Given the description of an element on the screen output the (x, y) to click on. 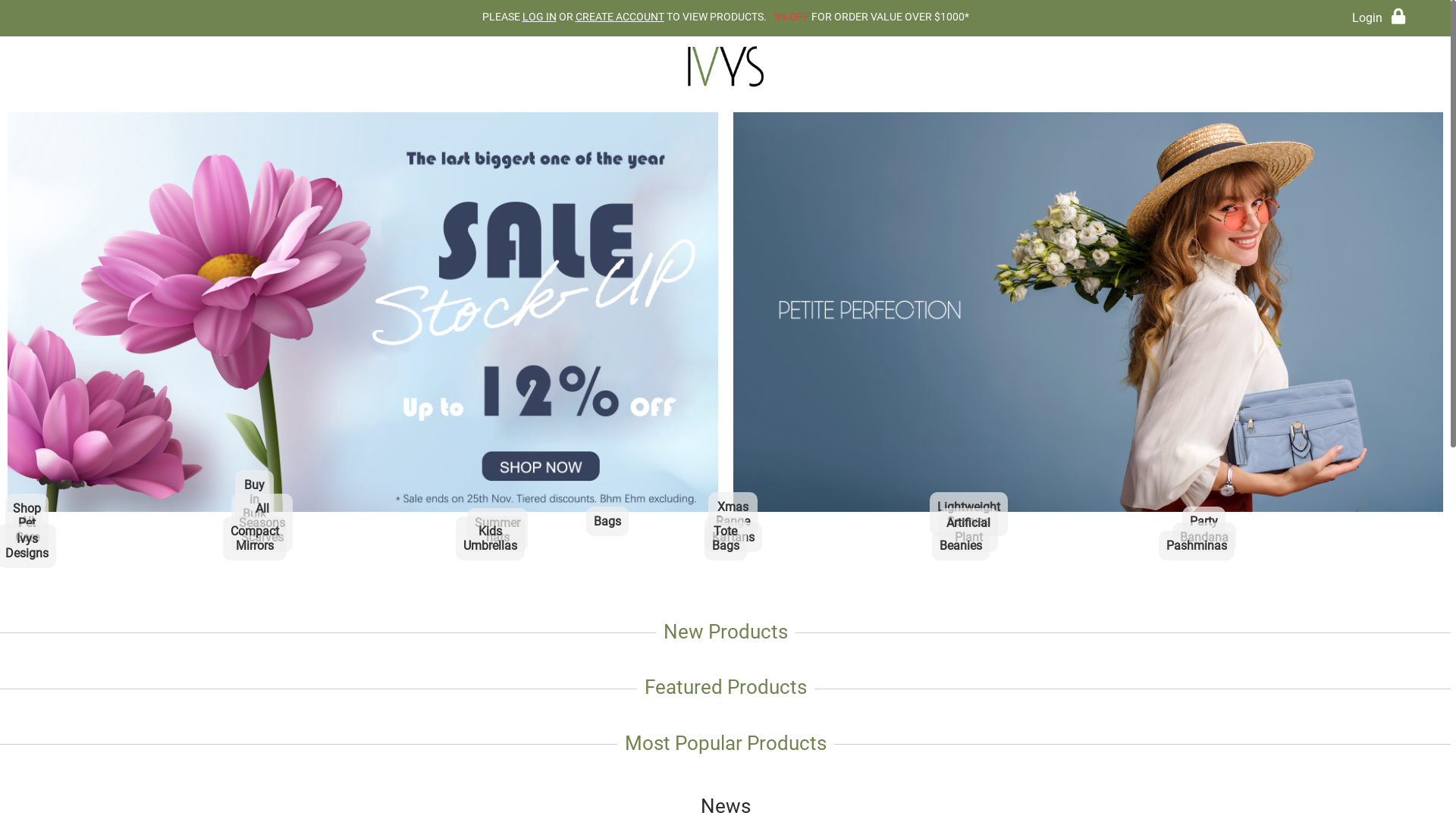
Ivys Designs Element type: hover (26, 574)
Kids Umbrellas Element type: hover (489, 567)
All Seasons Scarves Element type: hover (261, 558)
Buy in Bulk Element type: hover (254, 535)
Compact Mirrors Element type: hover (254, 567)
Artificial Plant Element type: hover (968, 558)
Kaftans Element type: hover (732, 558)
Beanies Element type: hover (960, 567)
LOG IN Element type: text (538, 16)
Party Element type: hover (1203, 542)
Bags Element type: hover (607, 542)
Xmas Range Element type: hover (732, 542)
Login    Element type: text (1378, 17)
Lightweight Scarves Element type: hover (968, 542)
Summer hats Element type: hover (497, 558)
All Element type: hover (26, 542)
Summer Hats Element type: hover (491, 527)
All Element type: hover (362, 311)
Bandana Element type: hover (1203, 558)
Lightweight Scarves Element type: hover (974, 527)
Bags Element type: hover (1087, 311)
Shop Pet Care Element type: hover (26, 558)
Tote Bags Element type: hover (724, 567)
CREATE ACCOUNT Element type: text (618, 16)
Beanies Element type: hover (241, 527)
Pashminas Element type: hover (1195, 567)
